Given the description of an element on the screen output the (x, y) to click on. 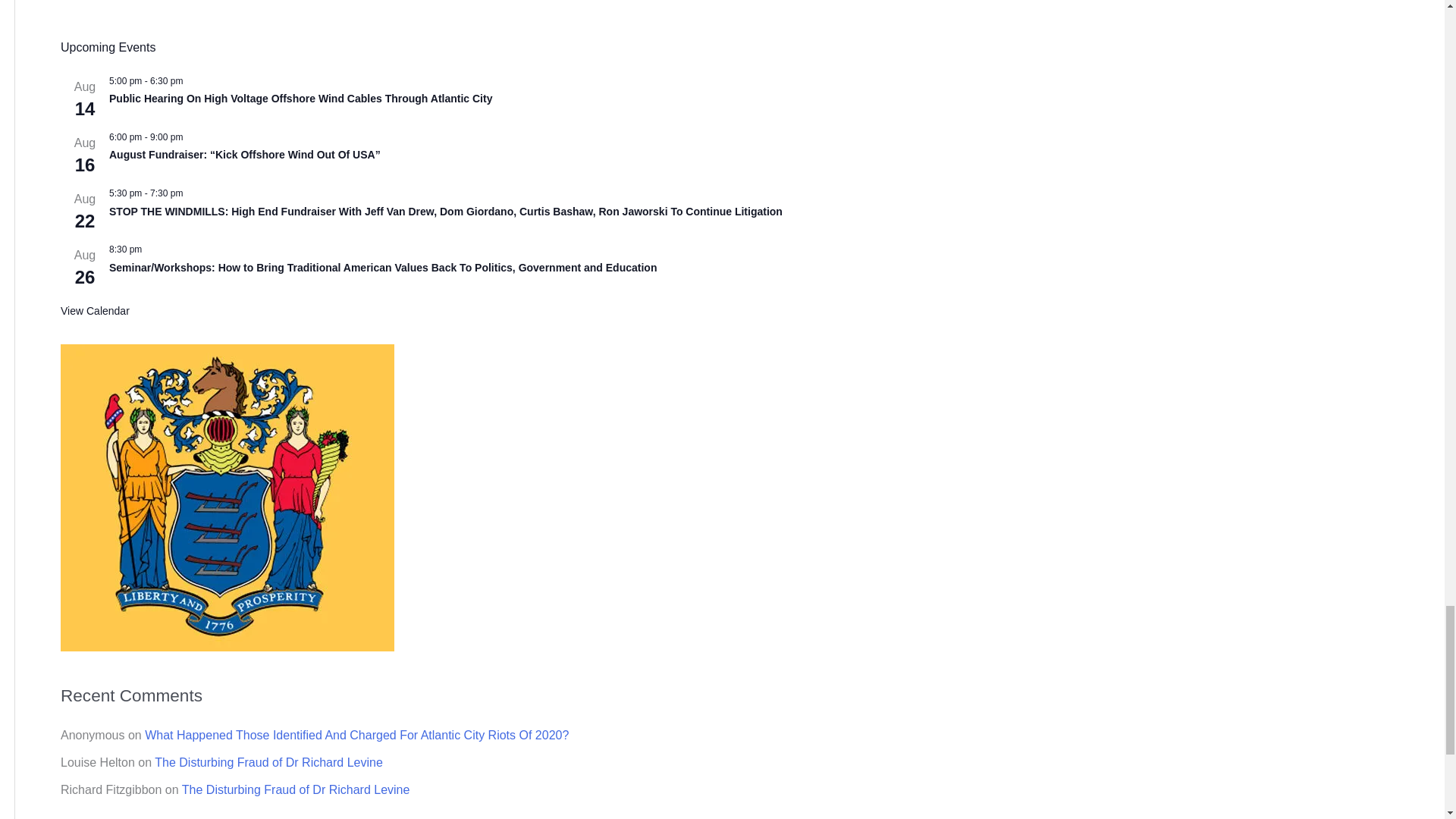
View more events. (95, 310)
